Given the description of an element on the screen output the (x, y) to click on. 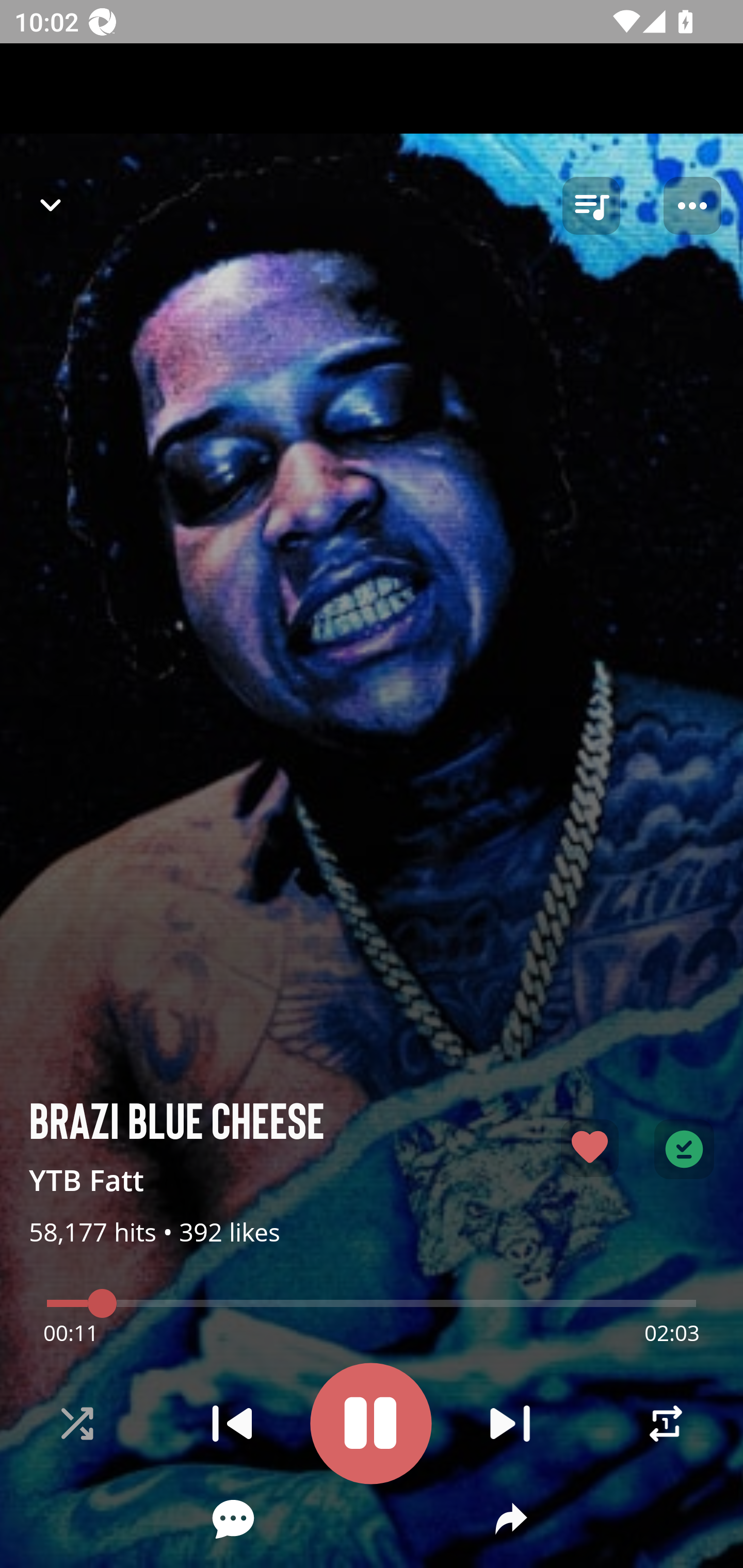
Navigate up (50, 205)
queue (590, 206)
Player options (692, 206)
